Given the description of an element on the screen output the (x, y) to click on. 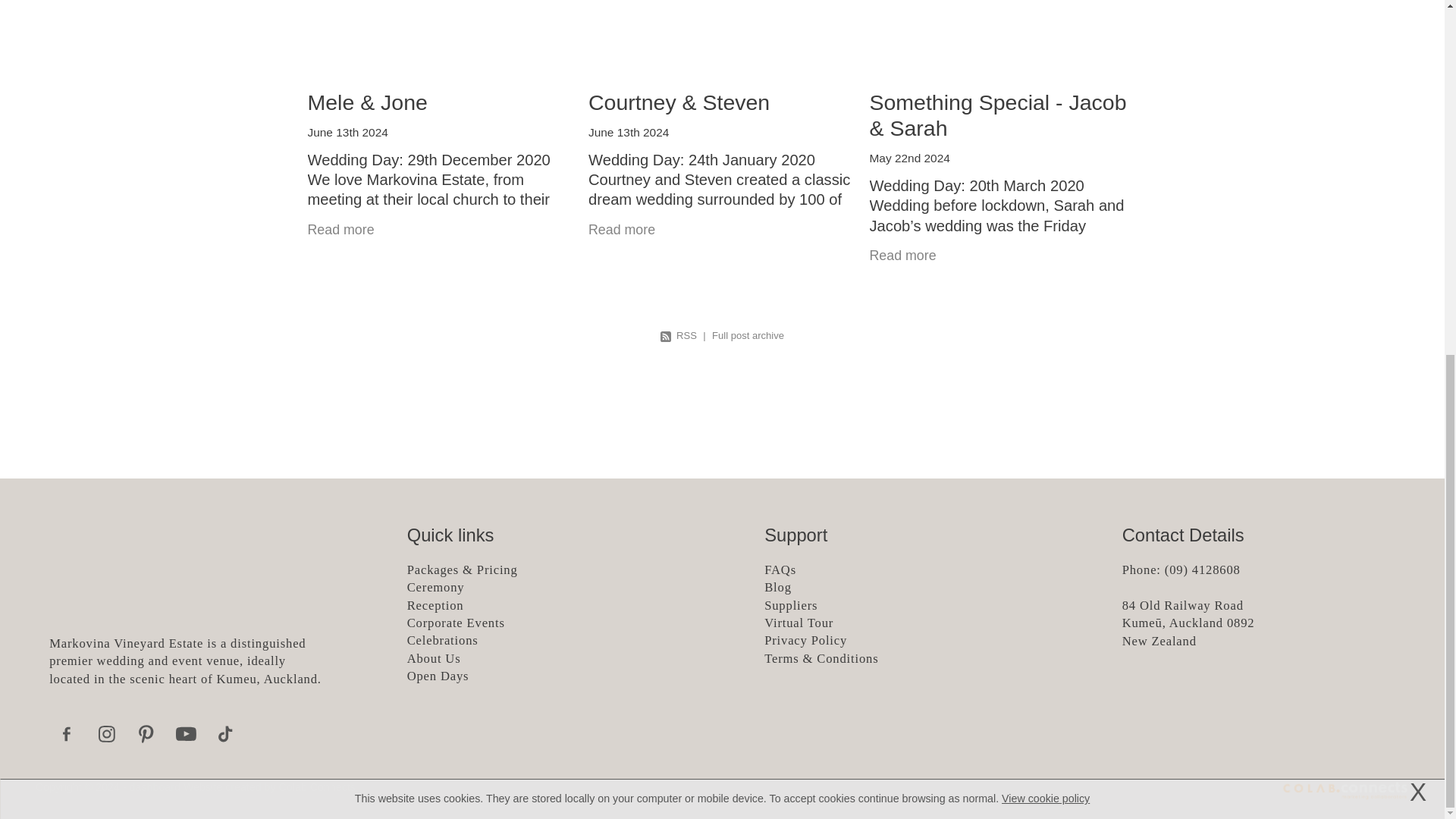
A link to this website's Facebook. (66, 733)
A link to this website's TikTok. (225, 733)
Full post archive (747, 335)
A link to this website's Instagram. (105, 733)
RSS Feed (679, 335)
A link to this website's Pinterest. (146, 733)
A link to this website's Youtube. (185, 733)
RSS (679, 335)
